Given the description of an element on the screen output the (x, y) to click on. 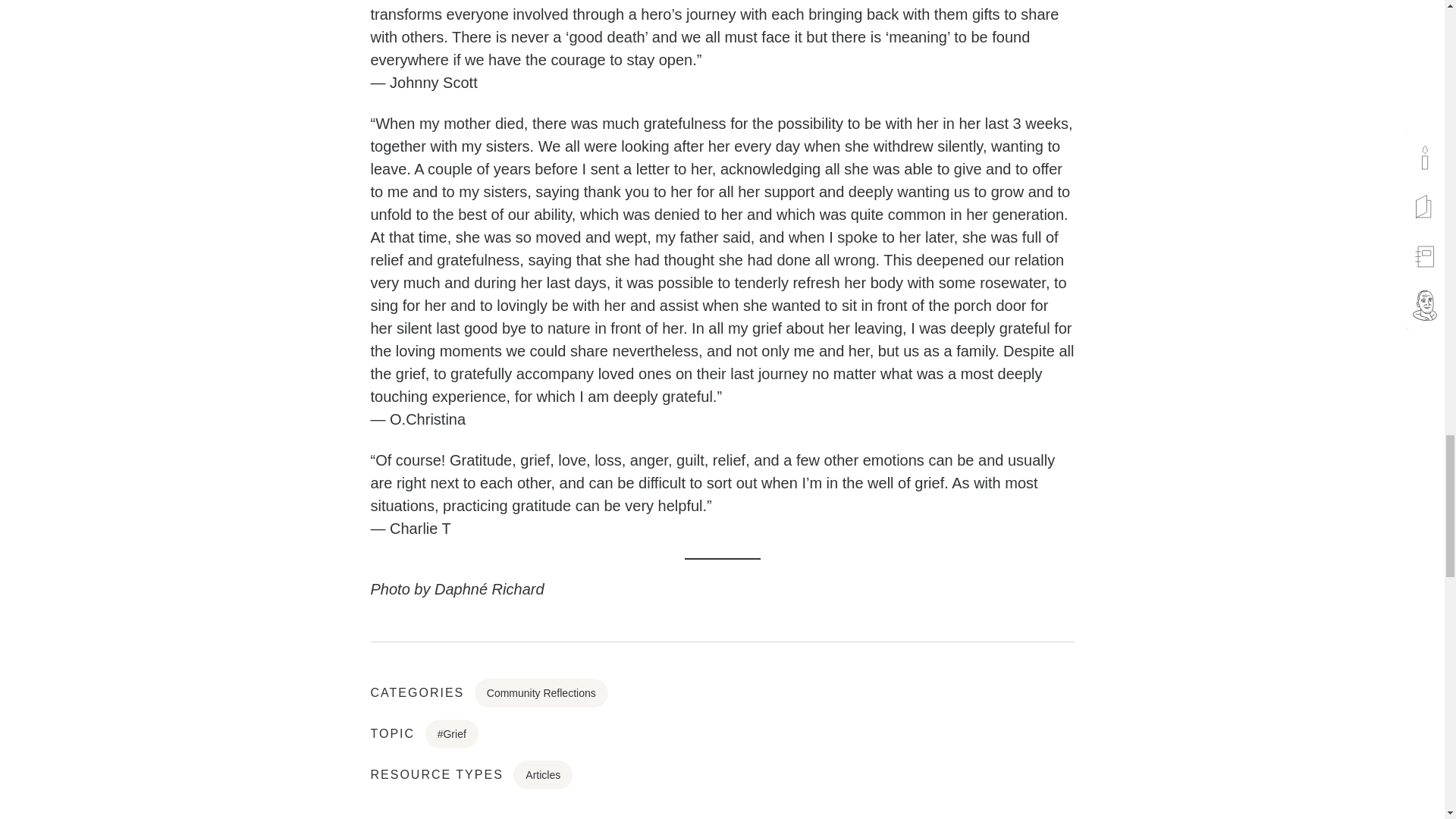
Community Reflections (541, 692)
Articles (542, 774)
Grief (452, 733)
